Given the description of an element on the screen output the (x, y) to click on. 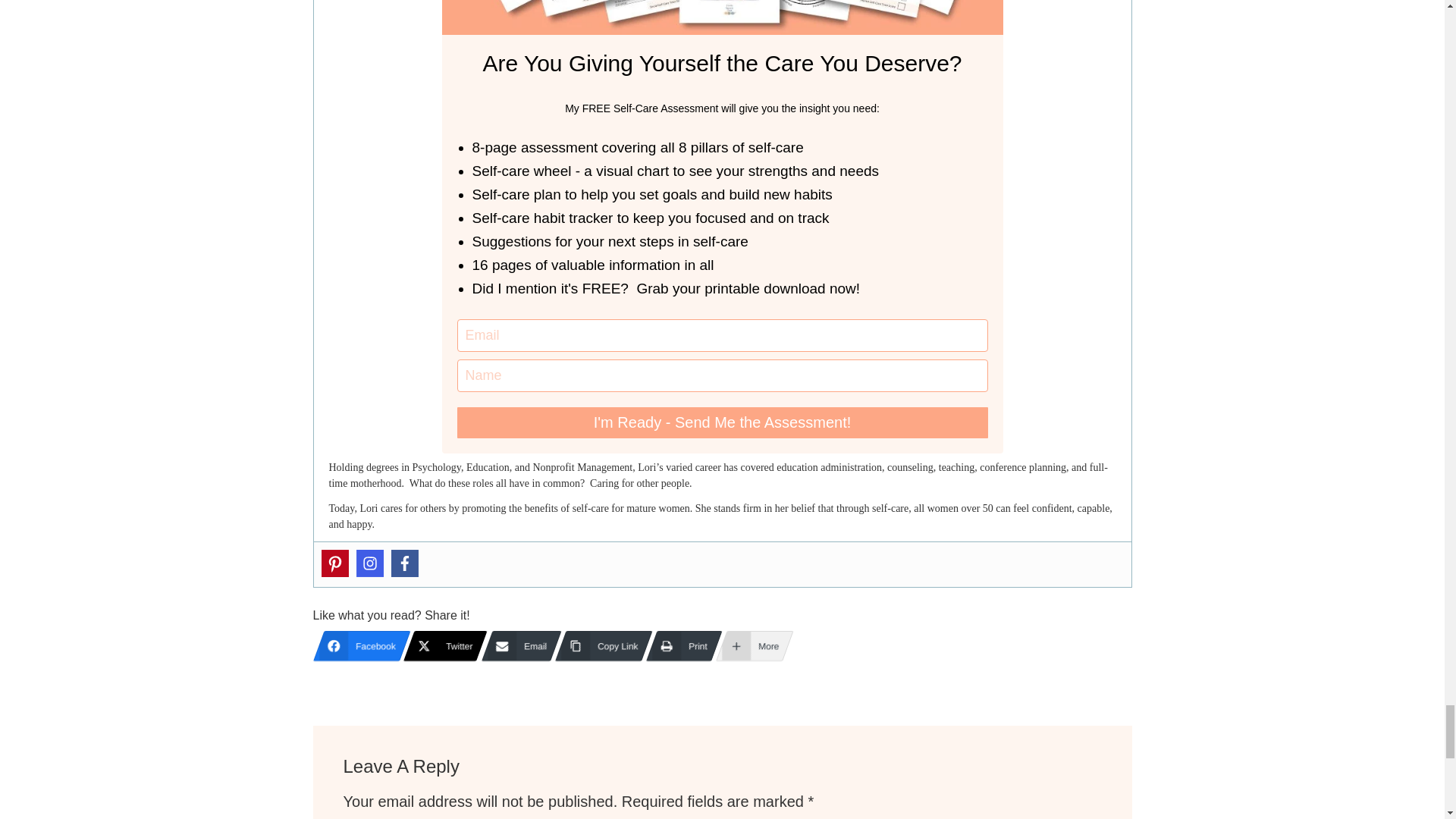
Facebook (405, 563)
Instagram (370, 563)
Pinterest (335, 563)
